Given the description of an element on the screen output the (x, y) to click on. 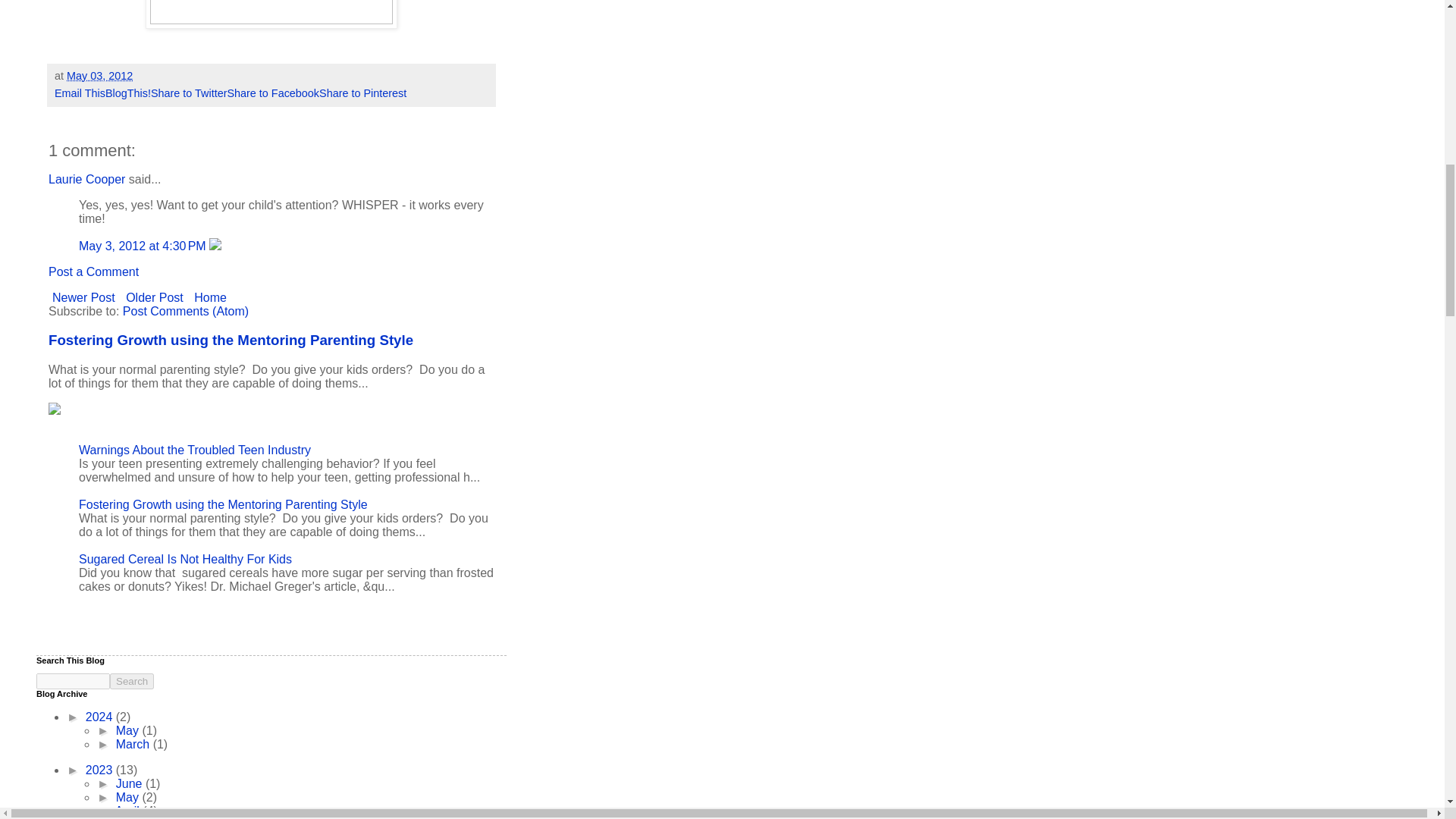
March (134, 744)
May (129, 797)
search (132, 681)
search (73, 681)
Search (132, 681)
Newer Post (83, 297)
Search (132, 681)
Sugared Cereal Is Not Healthy For Kids (185, 558)
Older Post (154, 297)
